Given the description of an element on the screen output the (x, y) to click on. 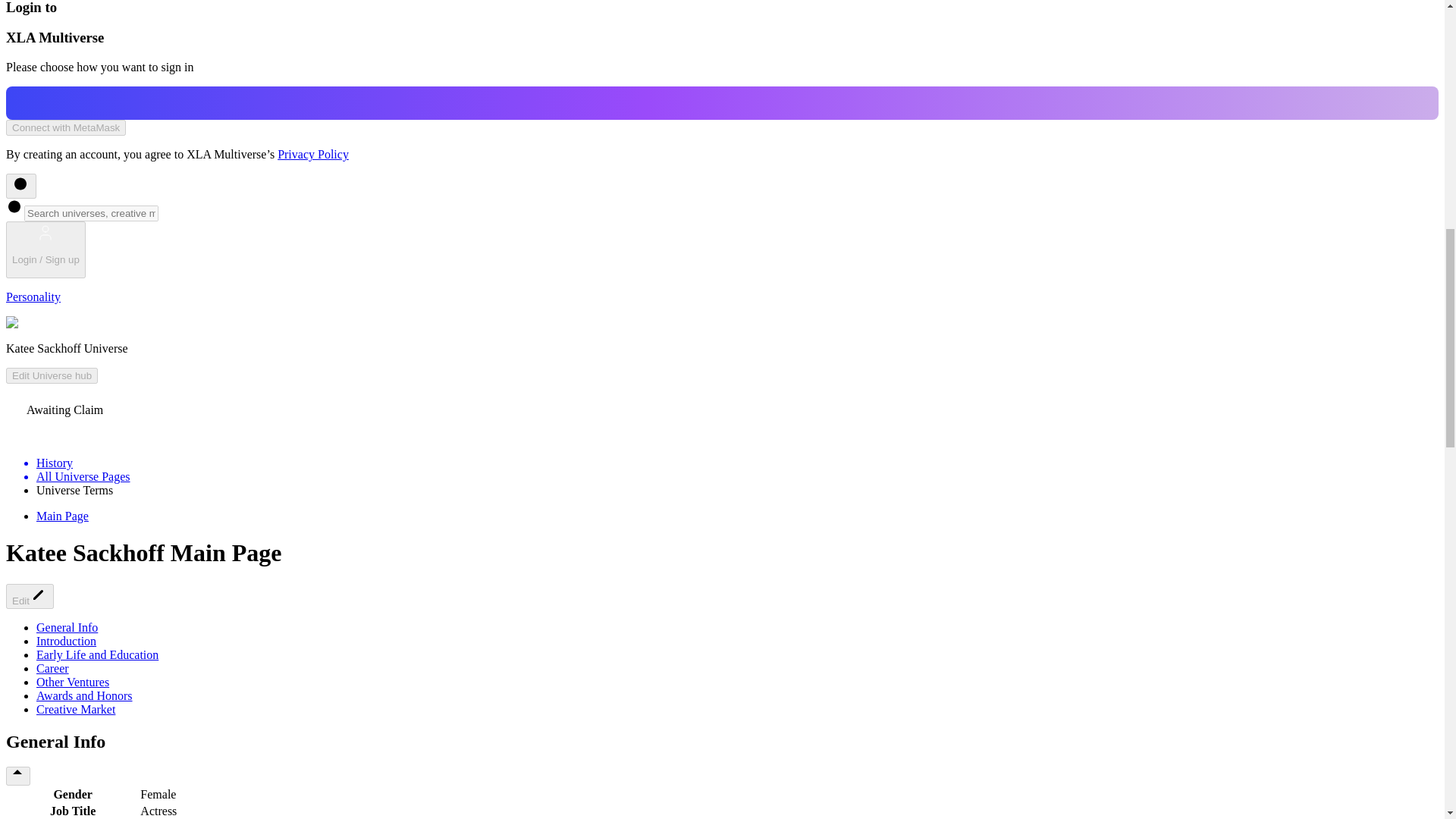
Career (52, 667)
Creative Market (75, 708)
Introduction (66, 640)
Early Life and Education (97, 654)
Personality (33, 296)
Privacy Policy (313, 154)
Edit Universe hub (51, 375)
Main Page (62, 515)
Other Ventures (72, 681)
Awards and Honors (84, 695)
